Given the description of an element on the screen output the (x, y) to click on. 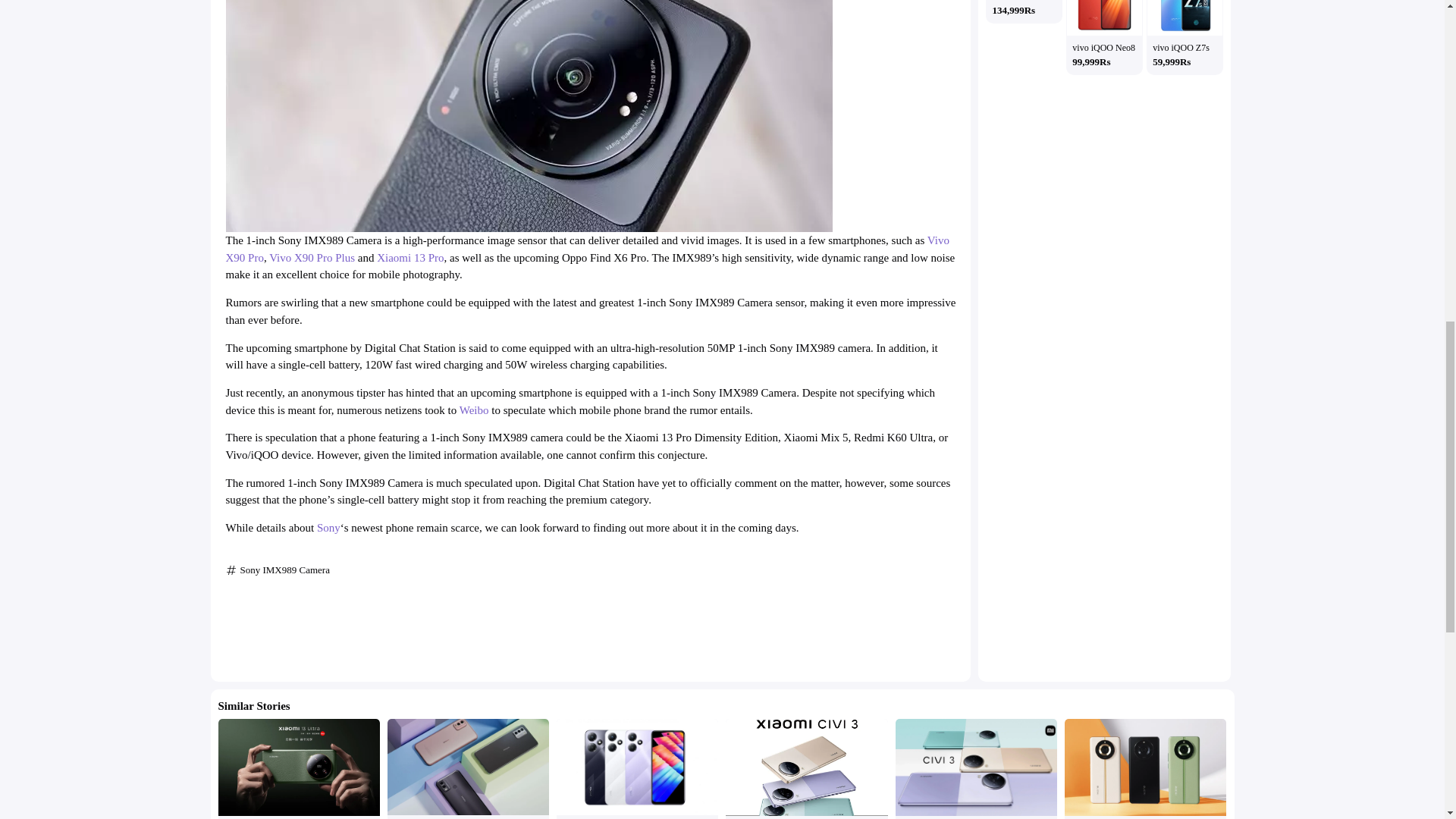
Vivo X90 Pro (587, 248)
Weibo (476, 409)
Vivo X90 Pro Plus (312, 257)
Advertisement (590, 626)
Sony (328, 527)
Sony IMX989 Camera (284, 569)
Xiaomi 13 Pro (410, 257)
